Given the description of an element on the screen output the (x, y) to click on. 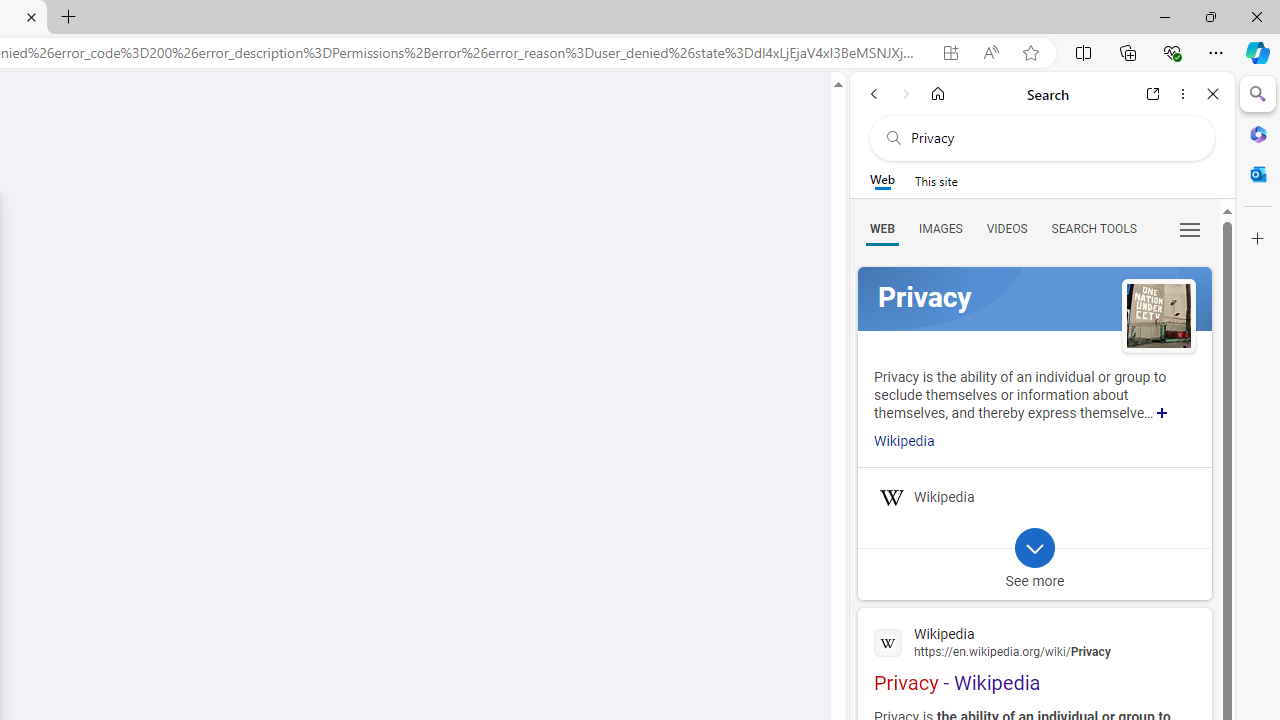
See more images of Privacy (1158, 315)
VIDEOS (1006, 228)
See more images of Privacy (1158, 317)
IMAGES (939, 228)
WEB   (882, 228)
Preferences (1189, 228)
Forward (906, 93)
Web scope (882, 180)
This site scope (936, 180)
Privacy - Wikipedia (1034, 657)
